Given the description of an element on the screen output the (x, y) to click on. 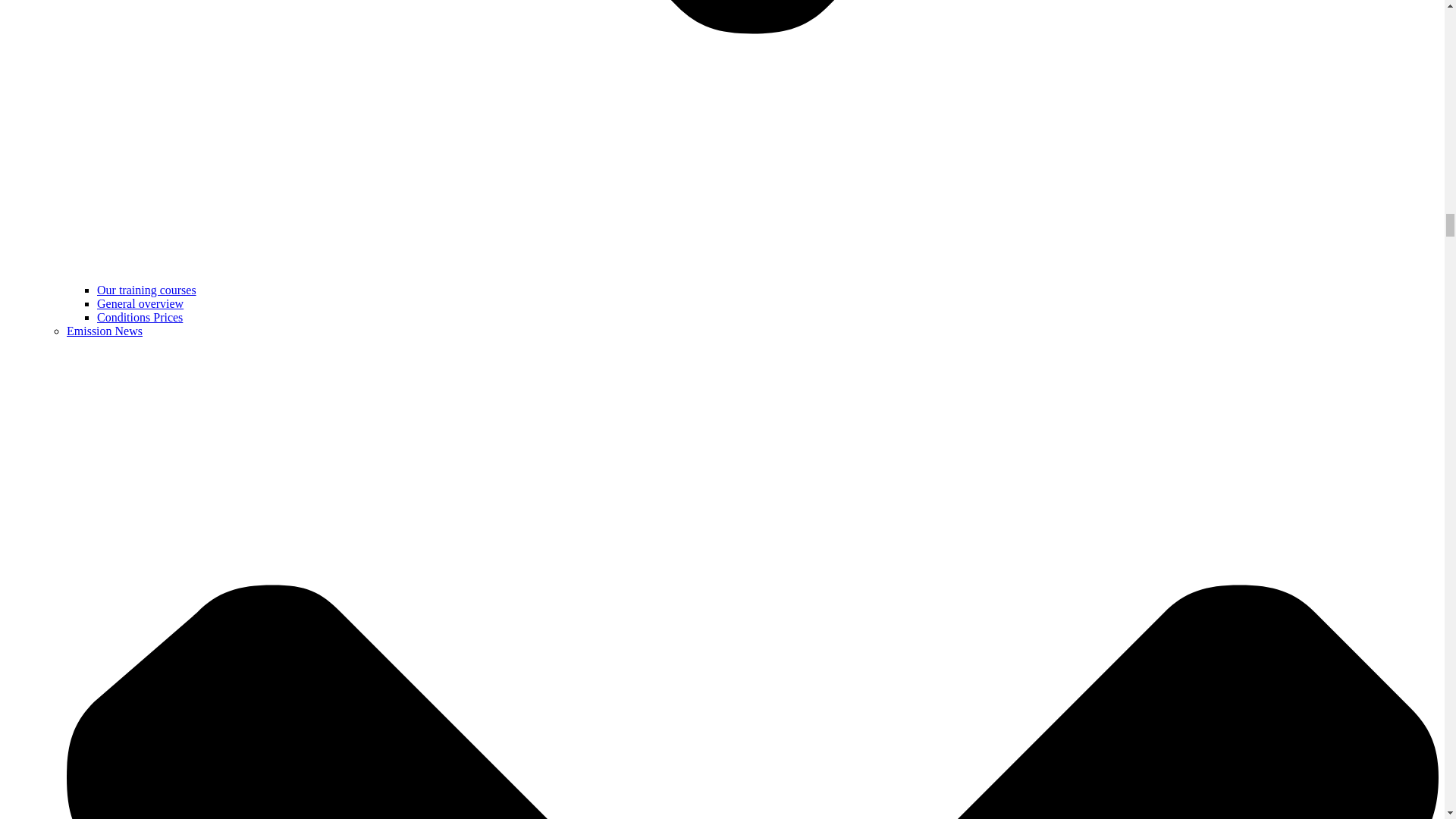
Our training courses (146, 289)
General overview (140, 303)
Conditions Prices (140, 317)
